Given the description of an element on the screen output the (x, y) to click on. 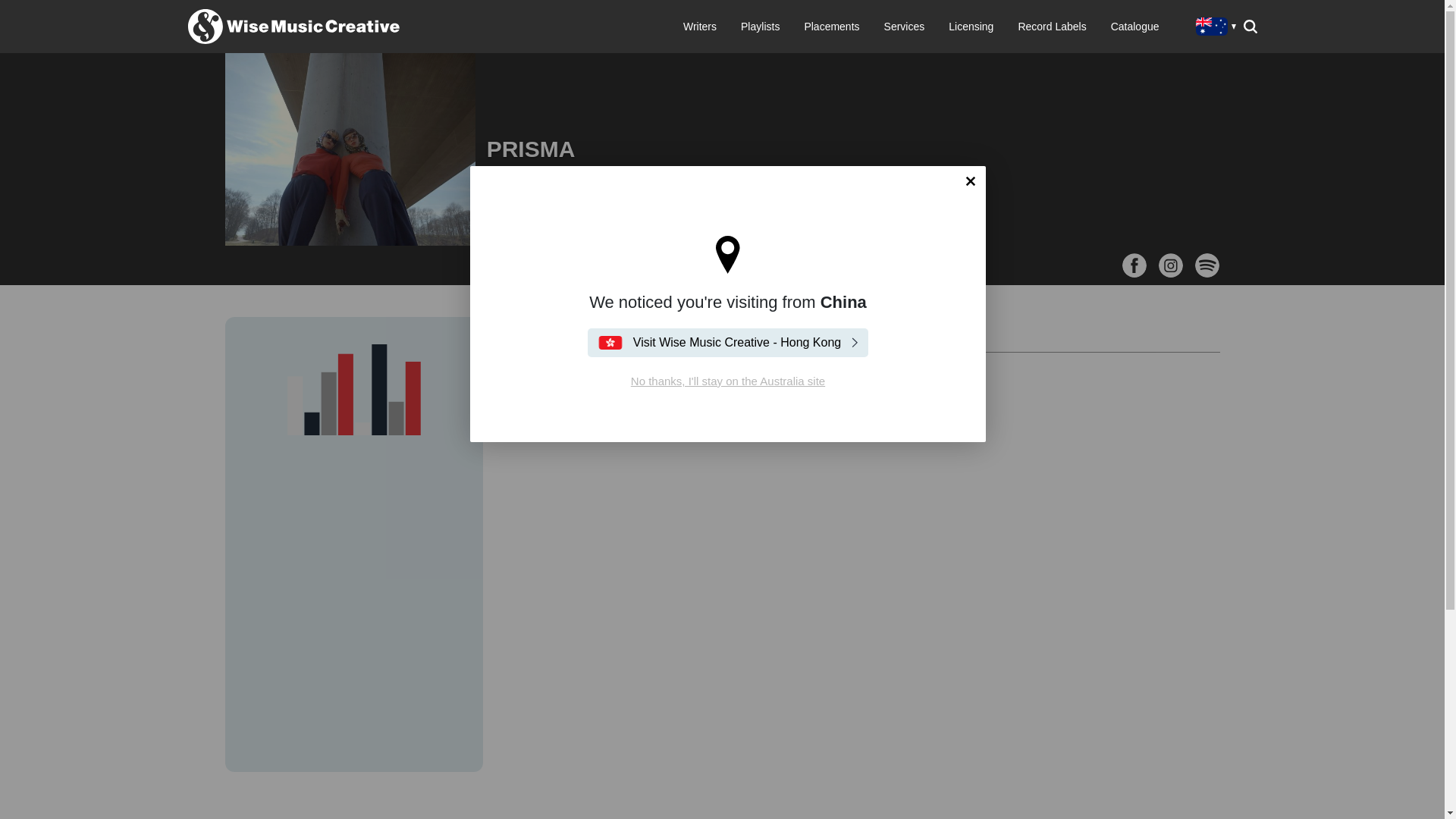
Catalogue (1135, 26)
Instagram (1170, 265)
No thanks, I'll stay on the Australia site (969, 181)
No thanks, I'll stay on the Australia site (727, 381)
Writers (700, 26)
Record Labels (1051, 26)
Playlists (760, 26)
Search (1250, 26)
Facebook (1134, 265)
Services (904, 26)
